Given the description of an element on the screen output the (x, y) to click on. 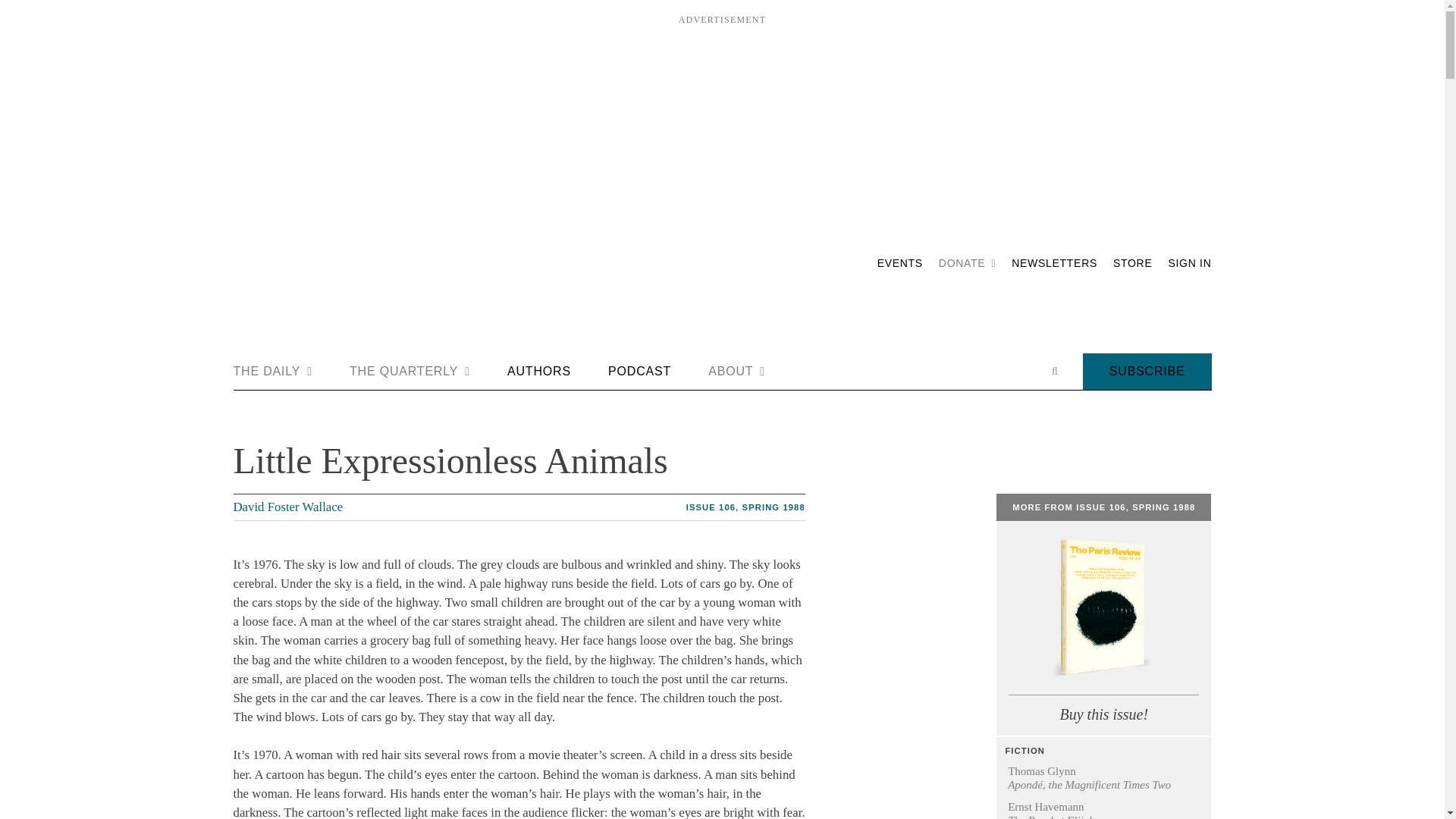
THE DAILY (272, 371)
THE QUARTERLY (409, 371)
Open search (1054, 371)
